Given the description of an element on the screen output the (x, y) to click on. 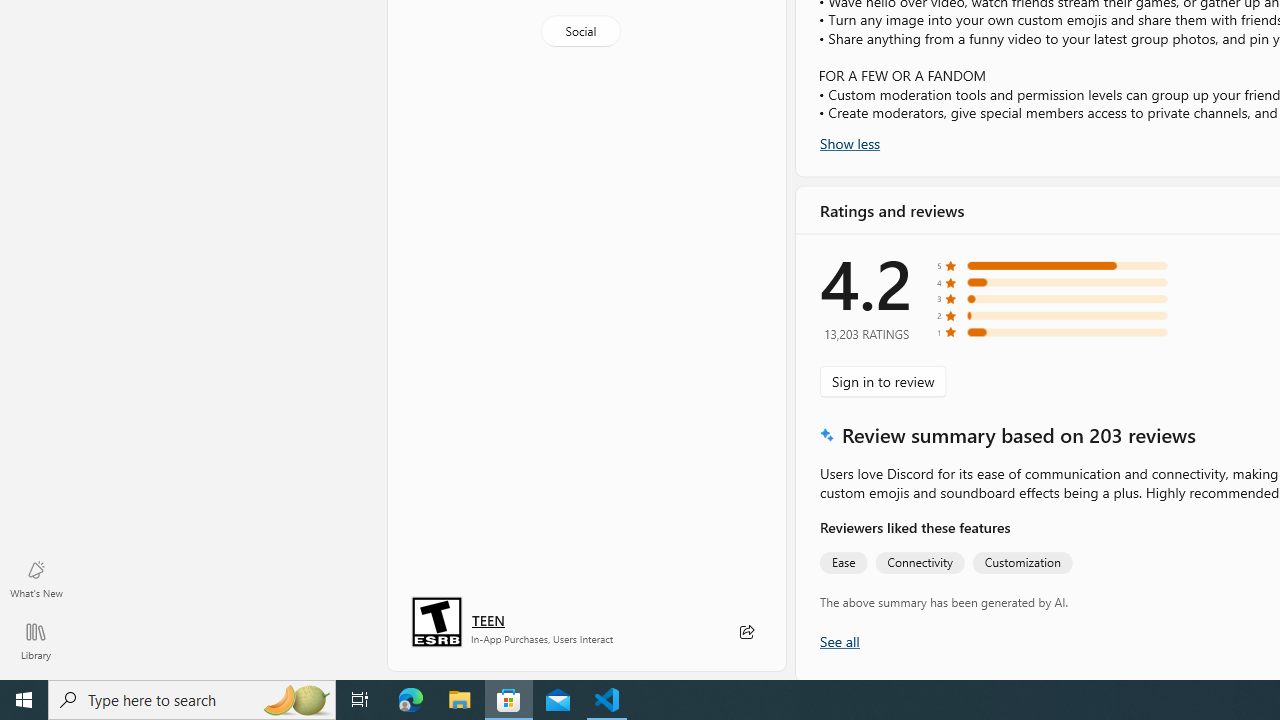
Library (35, 640)
Age rating: TEEN. Click for more information. (488, 619)
Sign in to review (882, 380)
Show less (850, 142)
Social (579, 30)
Share (746, 632)
Show all ratings and reviews (838, 639)
What's New (35, 578)
